Given the description of an element on the screen output the (x, y) to click on. 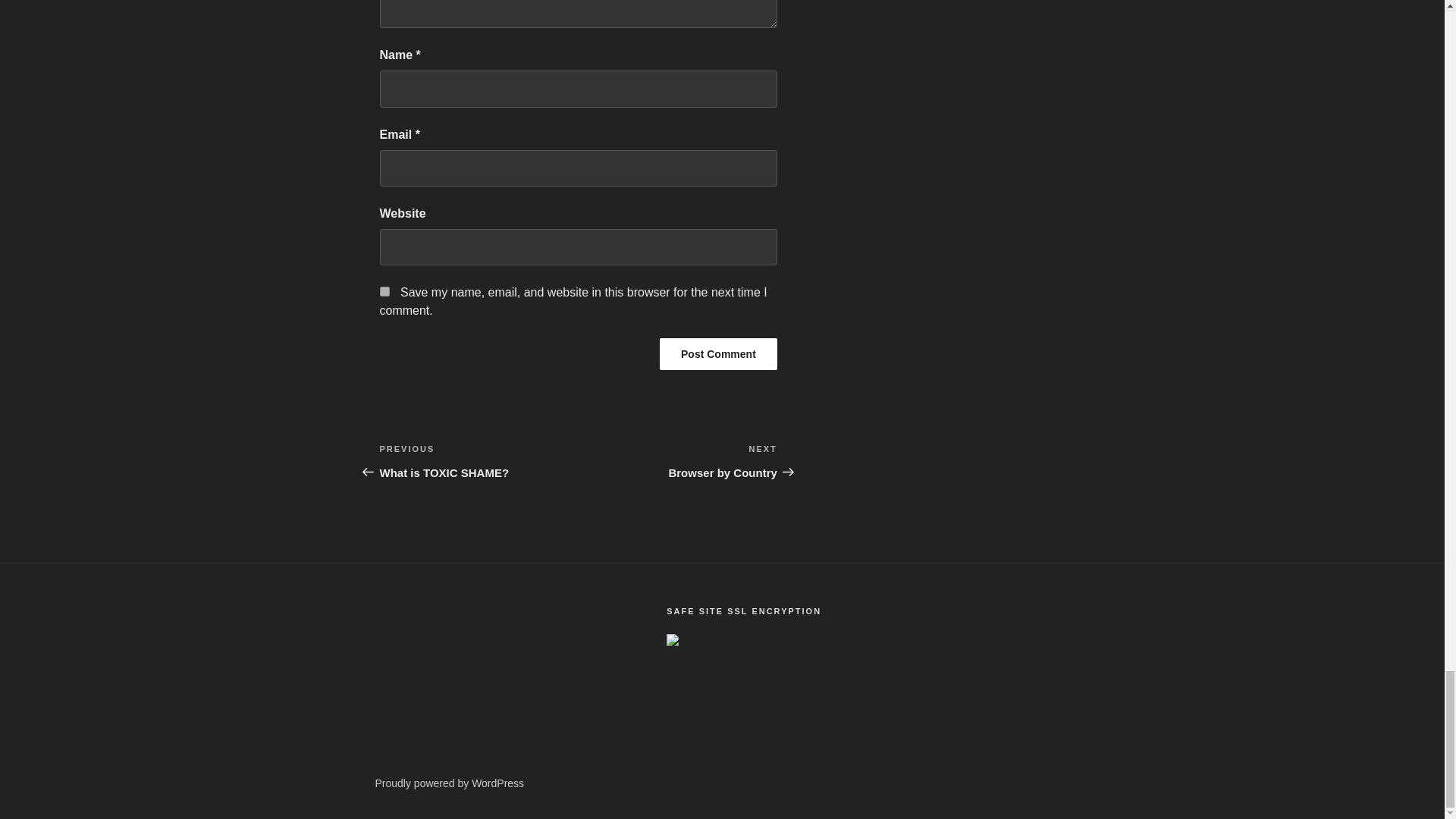
Post Comment (718, 354)
Post Comment (478, 461)
yes (718, 354)
